Given the description of an element on the screen output the (x, y) to click on. 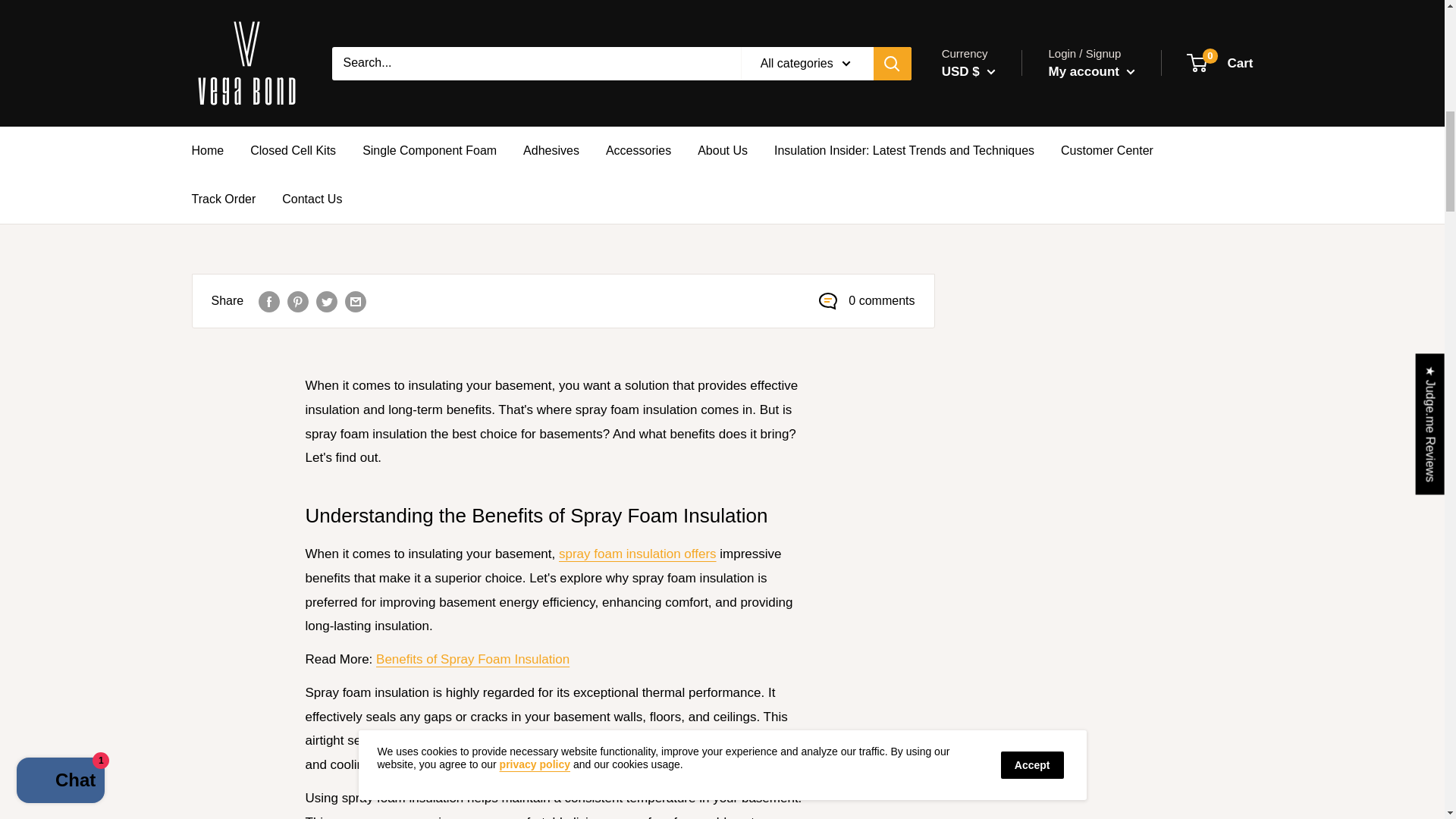
spray foam insulation offers (637, 554)
Benefits of Spray Foam Insulation (472, 658)
